Given the description of an element on the screen output the (x, y) to click on. 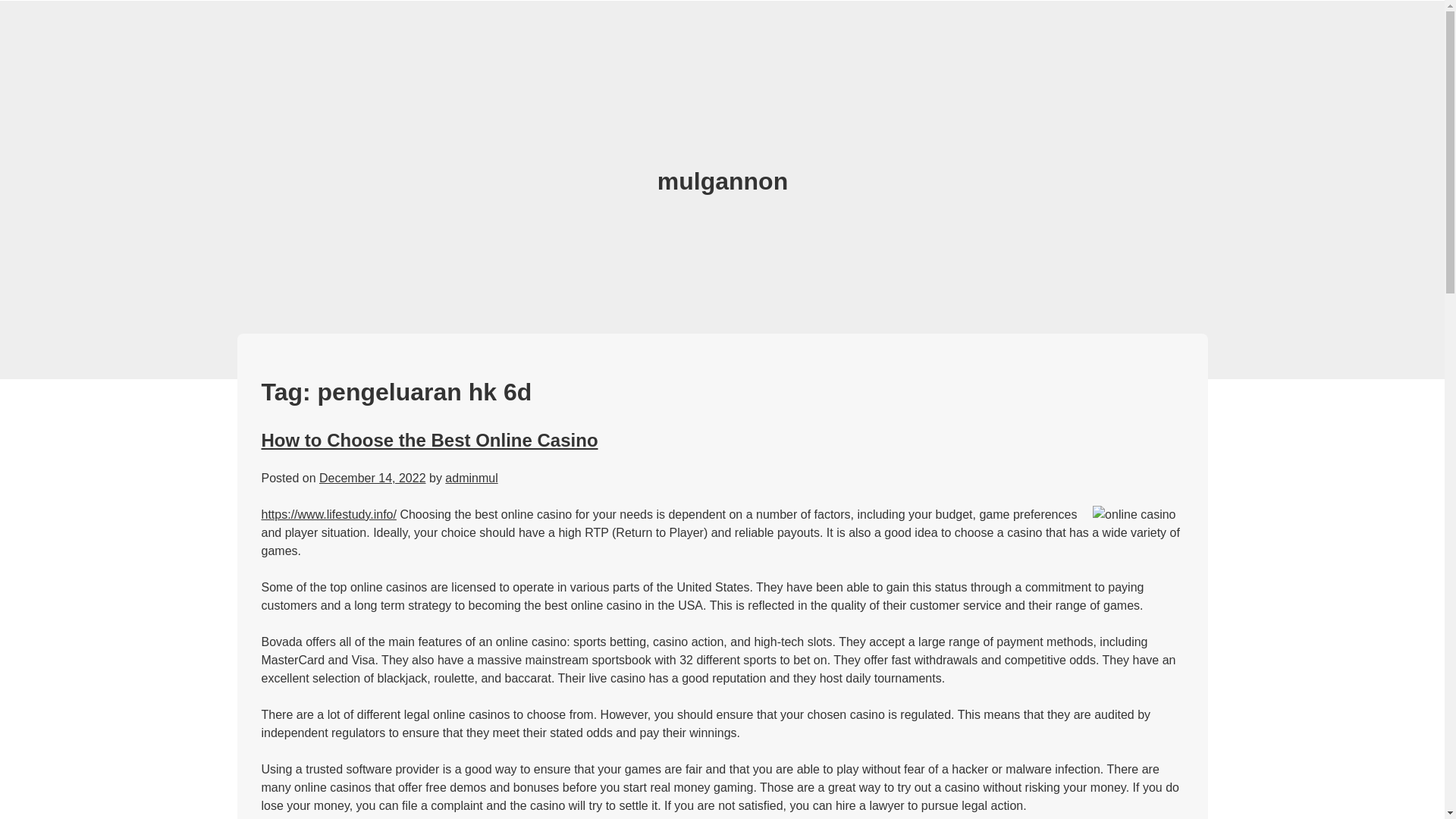
How to Choose the Best Online Casino (428, 439)
adminmul (471, 477)
December 14, 2022 (372, 477)
